Given the description of an element on the screen output the (x, y) to click on. 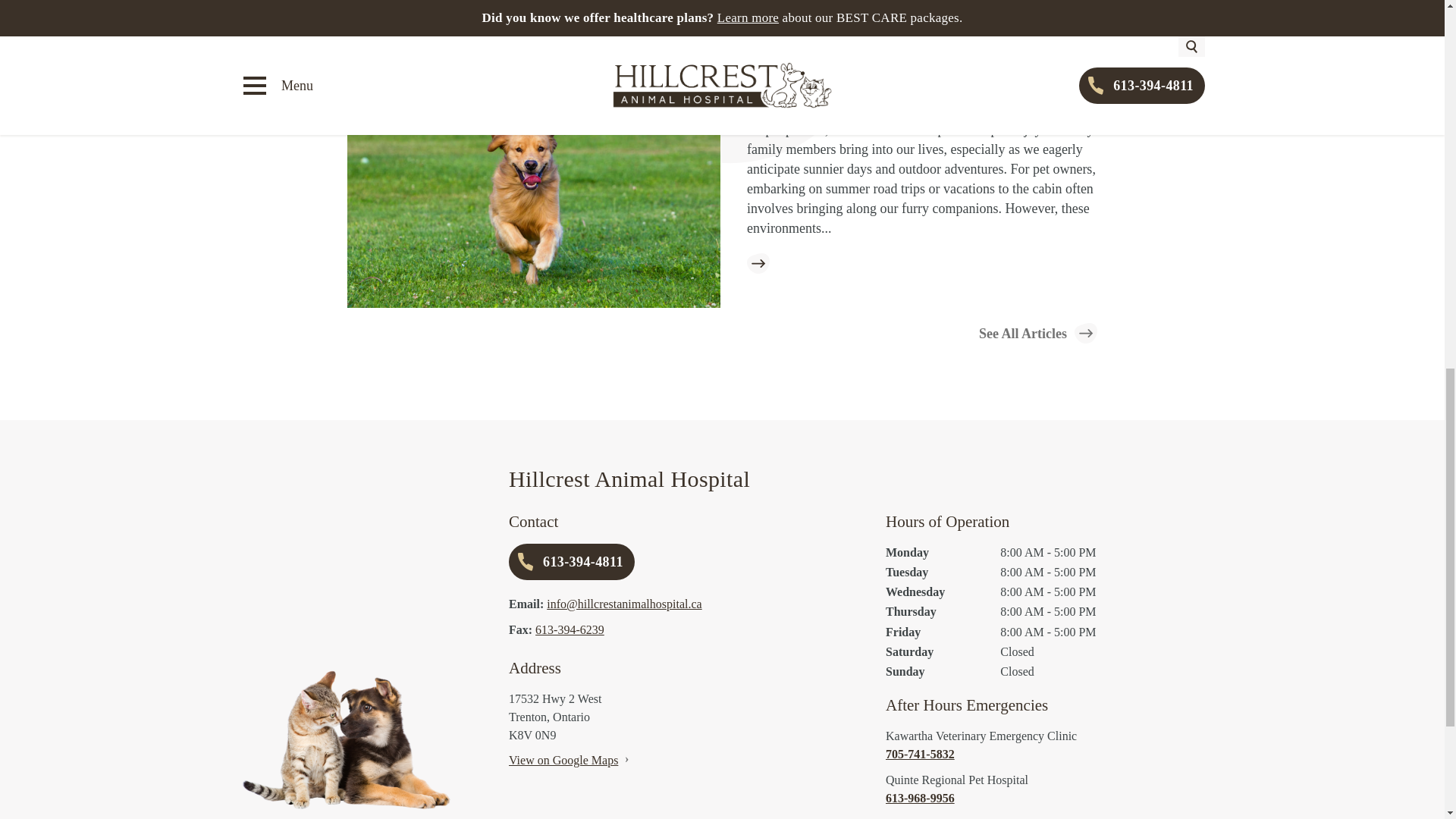
613-394-4811 (571, 561)
705-741-5832 (1045, 754)
View on Google Maps (562, 759)
613-394-6239 (569, 629)
See All Articles (1037, 332)
